Given the description of an element on the screen output the (x, y) to click on. 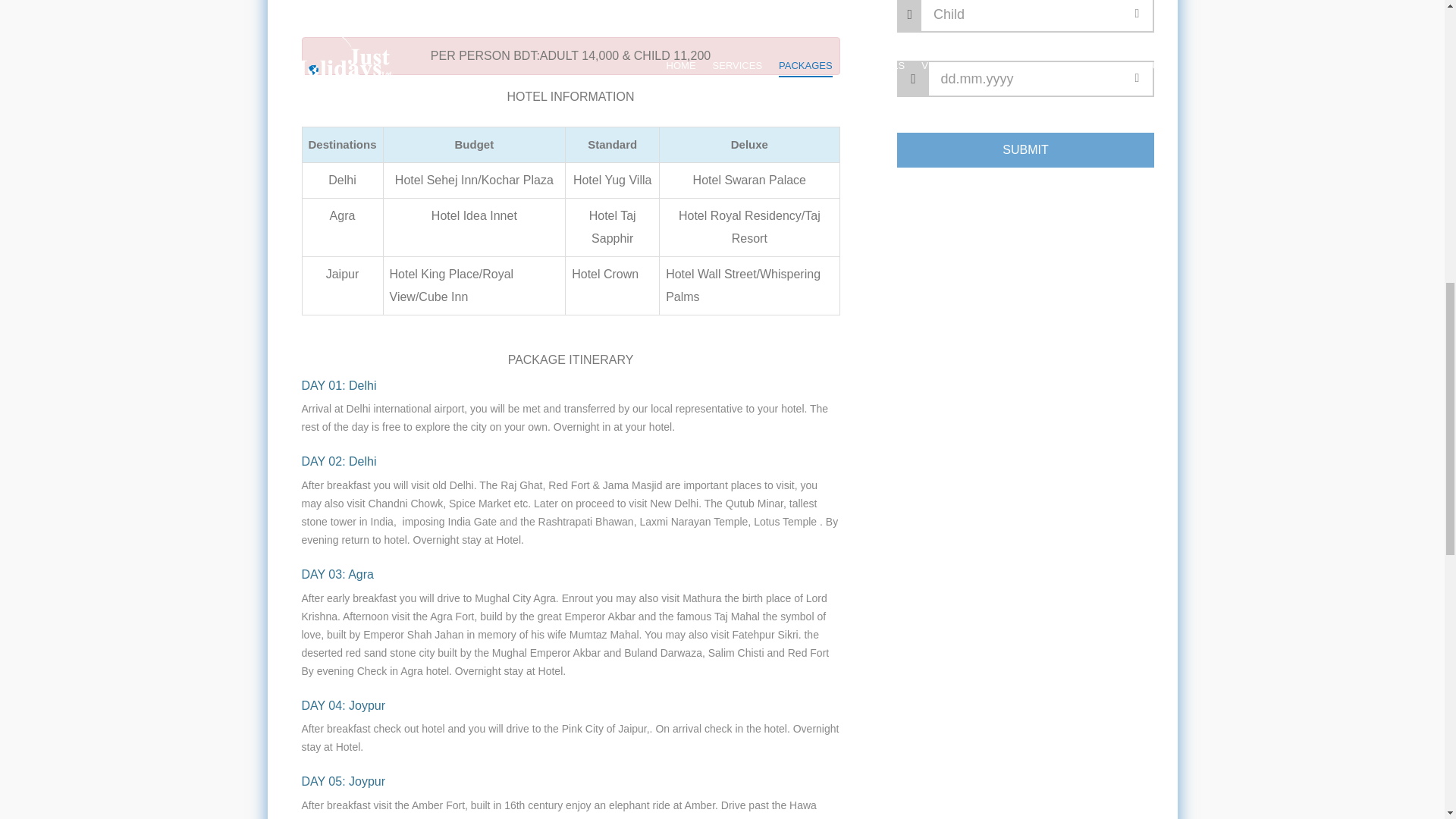
SUBMIT (1025, 149)
